Given the description of an element on the screen output the (x, y) to click on. 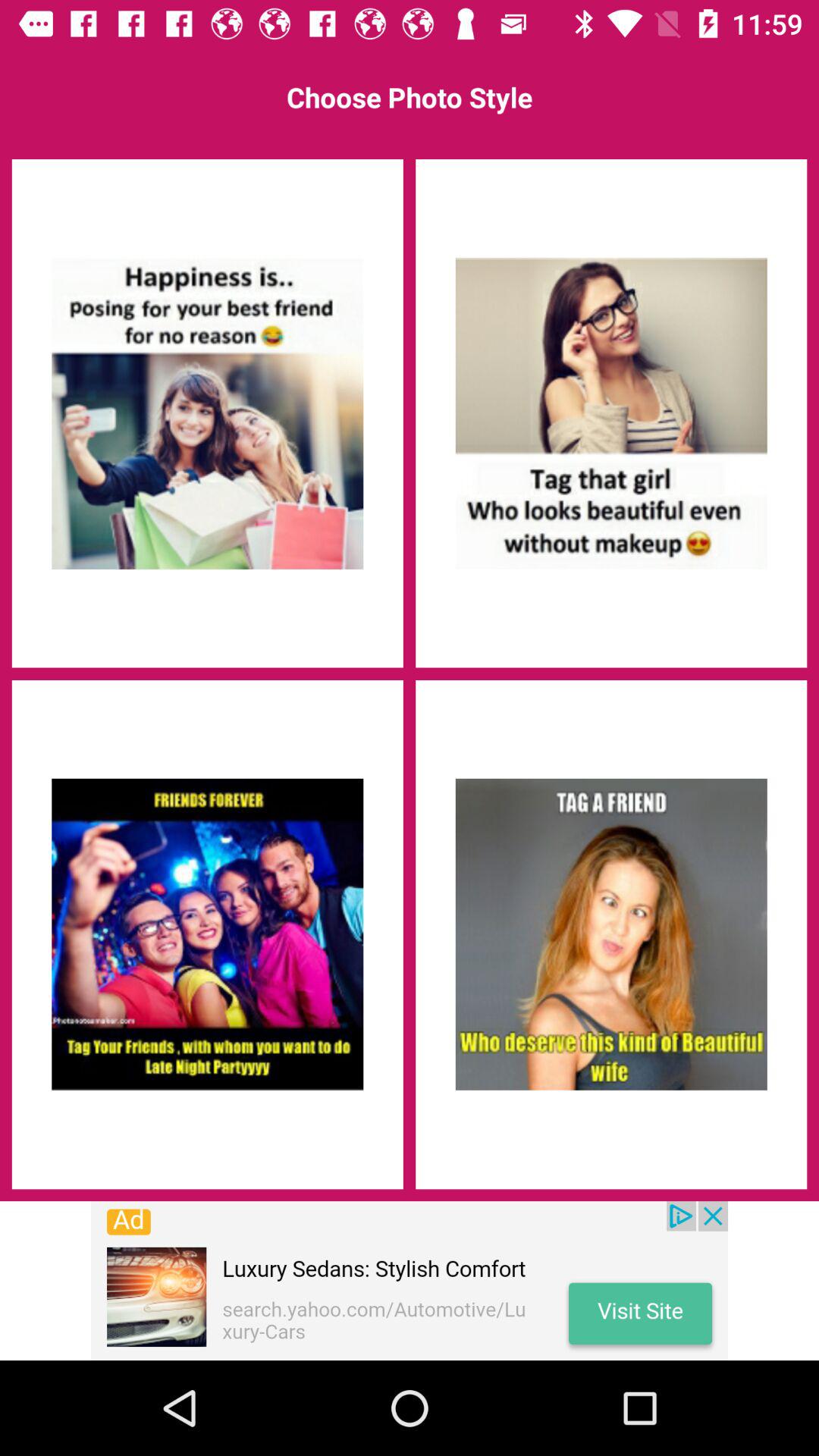
choose photo style (207, 934)
